Given the description of an element on the screen output the (x, y) to click on. 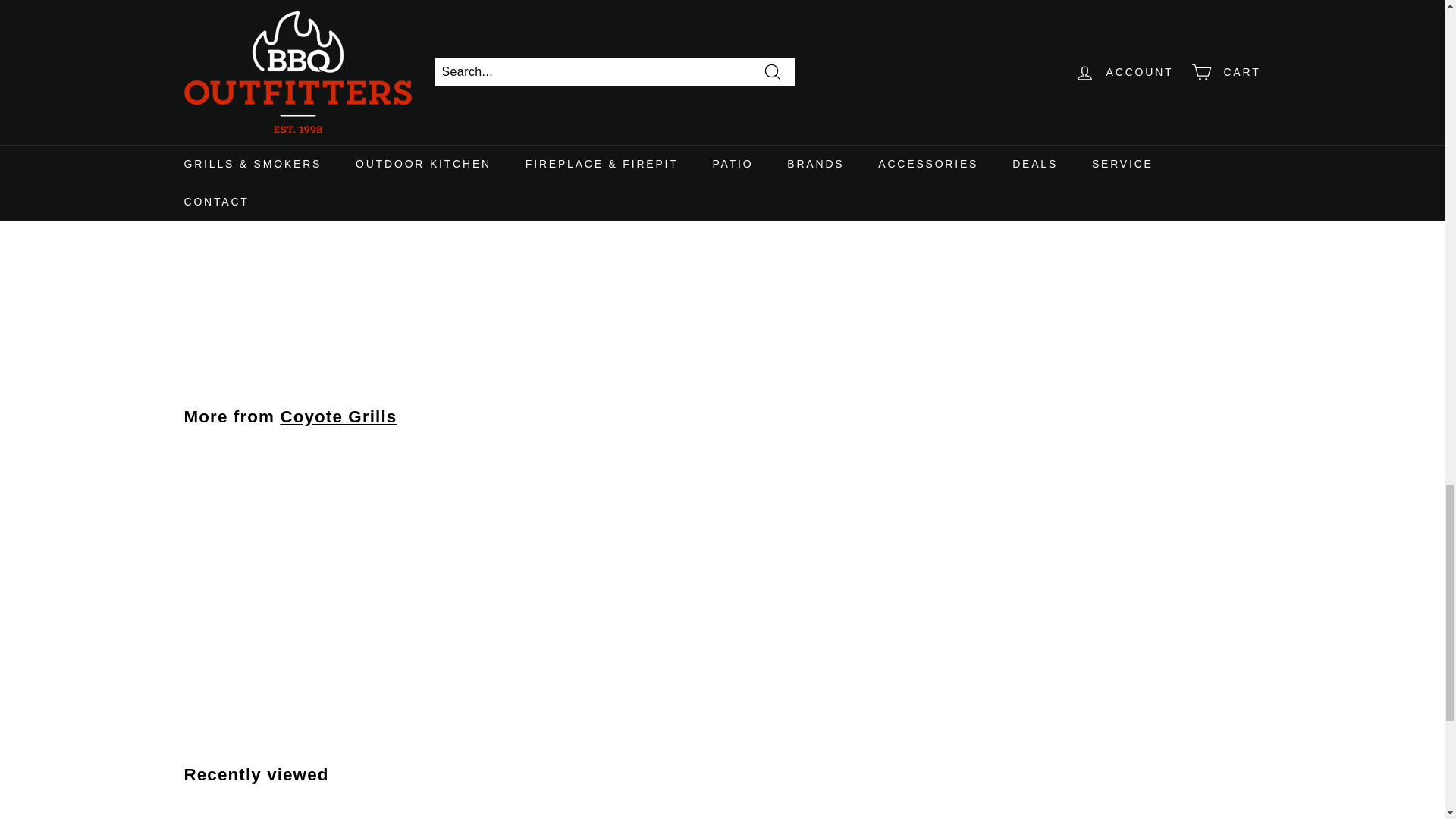
Coyote Grills (337, 416)
